Given the description of an element on the screen output the (x, y) to click on. 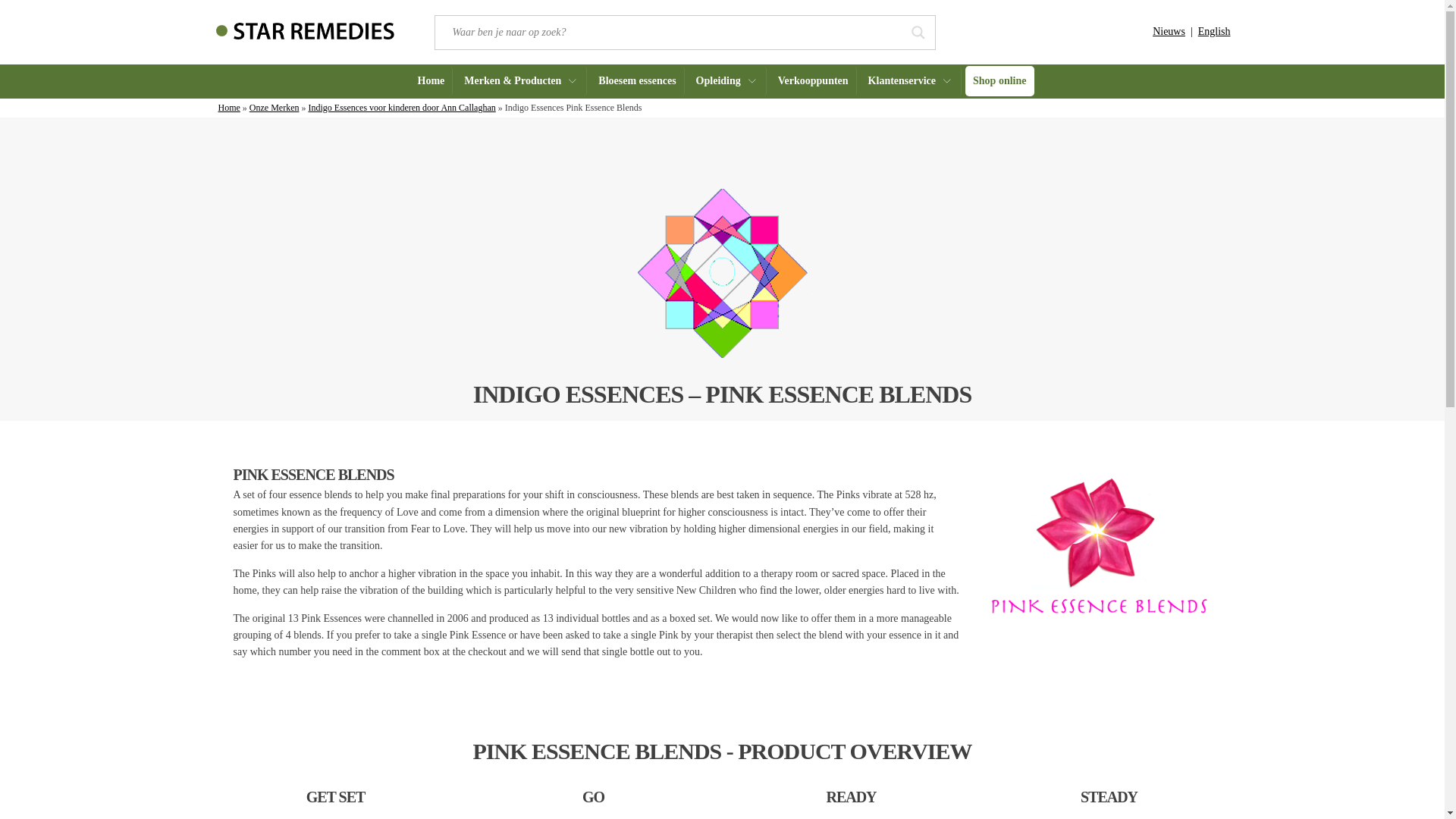
Home (431, 80)
Star Remedies BV Reviews on Kiyoh (1024, 28)
English (1214, 30)
Nieuws (1169, 30)
